Given the description of an element on the screen output the (x, y) to click on. 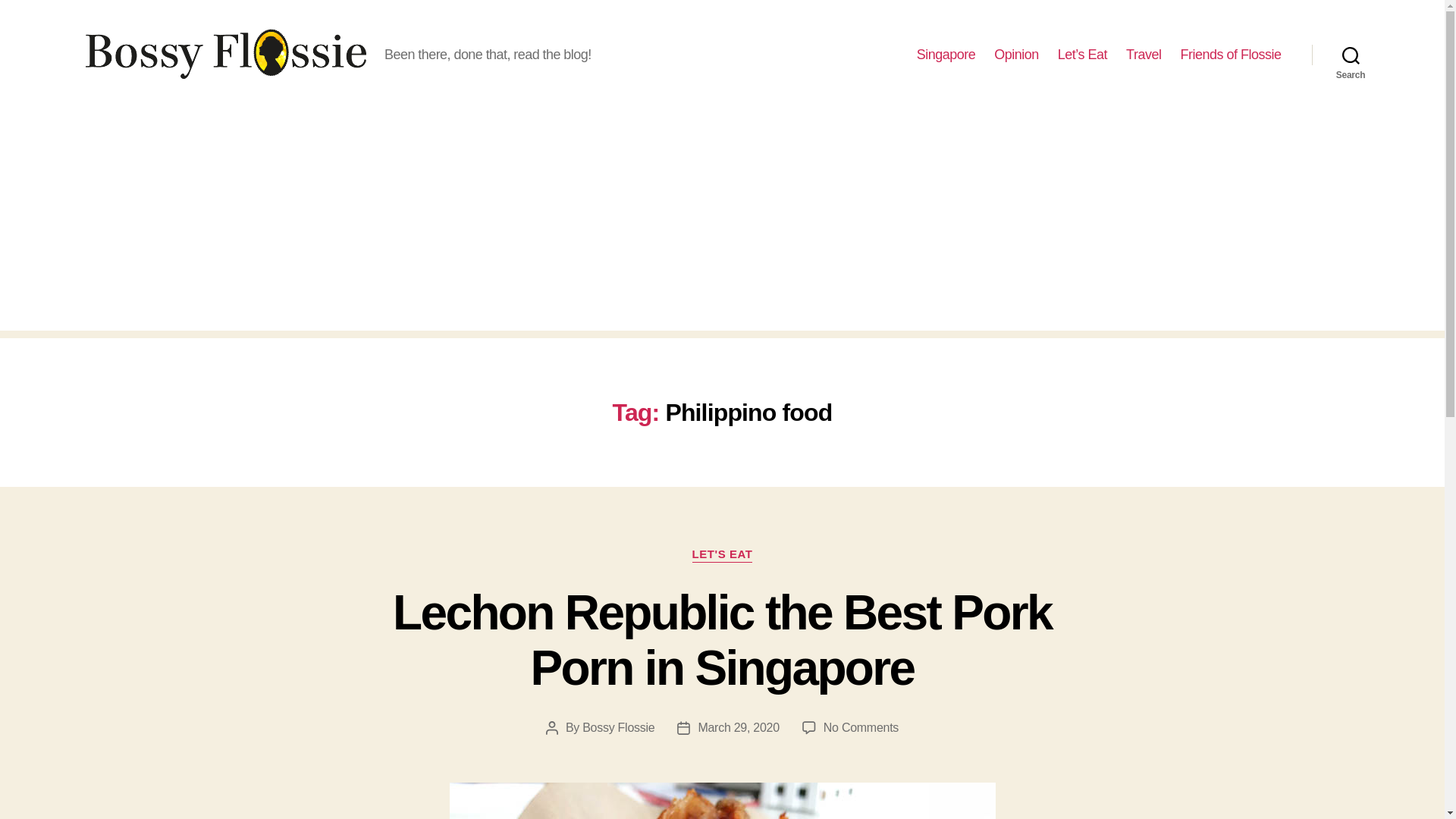
Friends of Flossie (1230, 54)
Travel (1142, 54)
March 29, 2020 (737, 727)
LET'S EAT (722, 554)
Singapore (946, 54)
Bossy Flossie (617, 727)
Search (1350, 55)
Lechon Republic the Best Pork Porn in Singapore (722, 640)
Opinion (1016, 54)
